Given the description of an element on the screen output the (x, y) to click on. 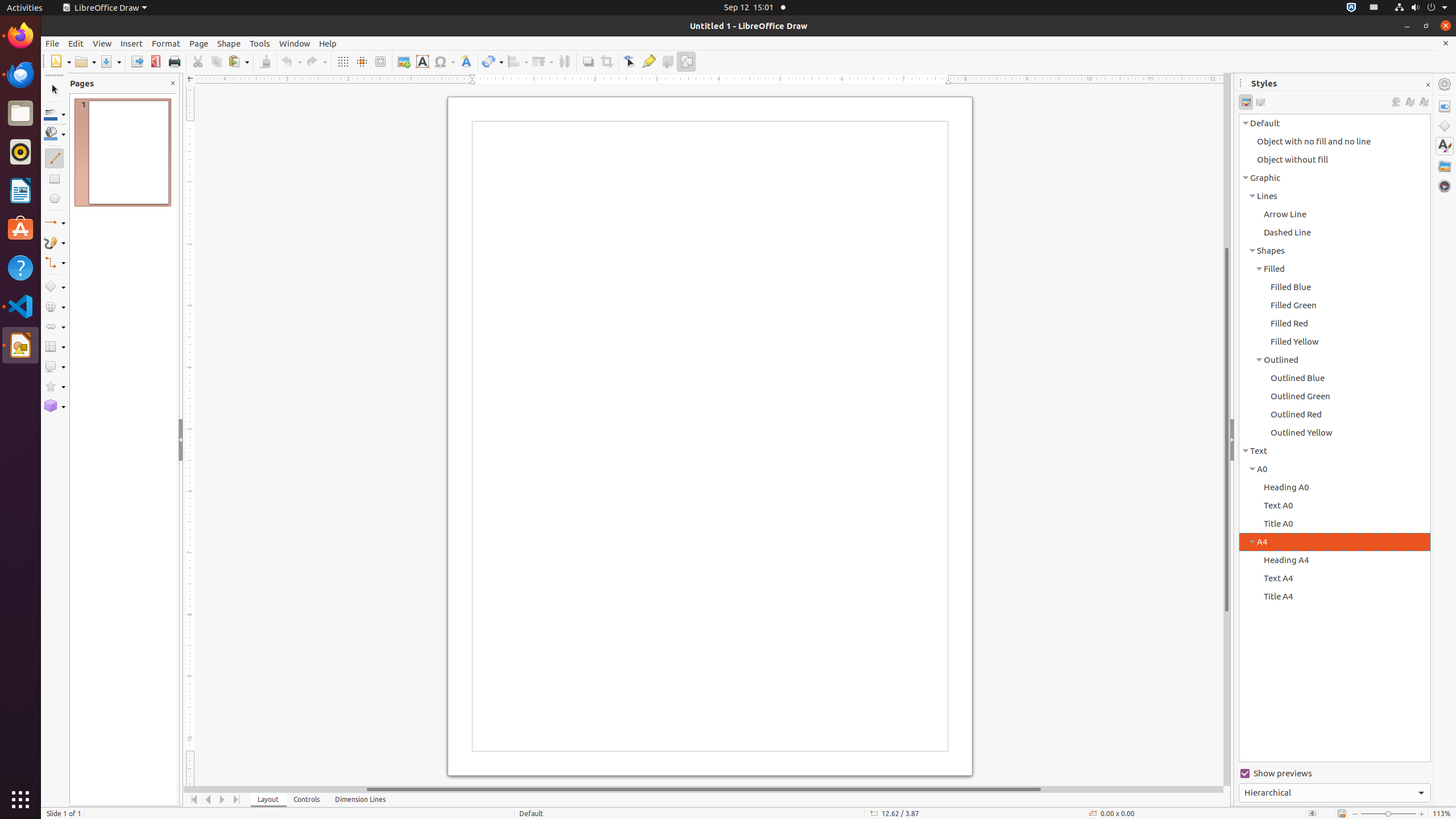
Show previews Element type: check-box (1334, 773)
Presentation Styles Element type: push-button (1259, 101)
Transformations Element type: push-button (492, 61)
LibreOffice Draw Element type: push-button (20, 344)
Move Right Element type: push-button (222, 799)
